Given the description of an element on the screen output the (x, y) to click on. 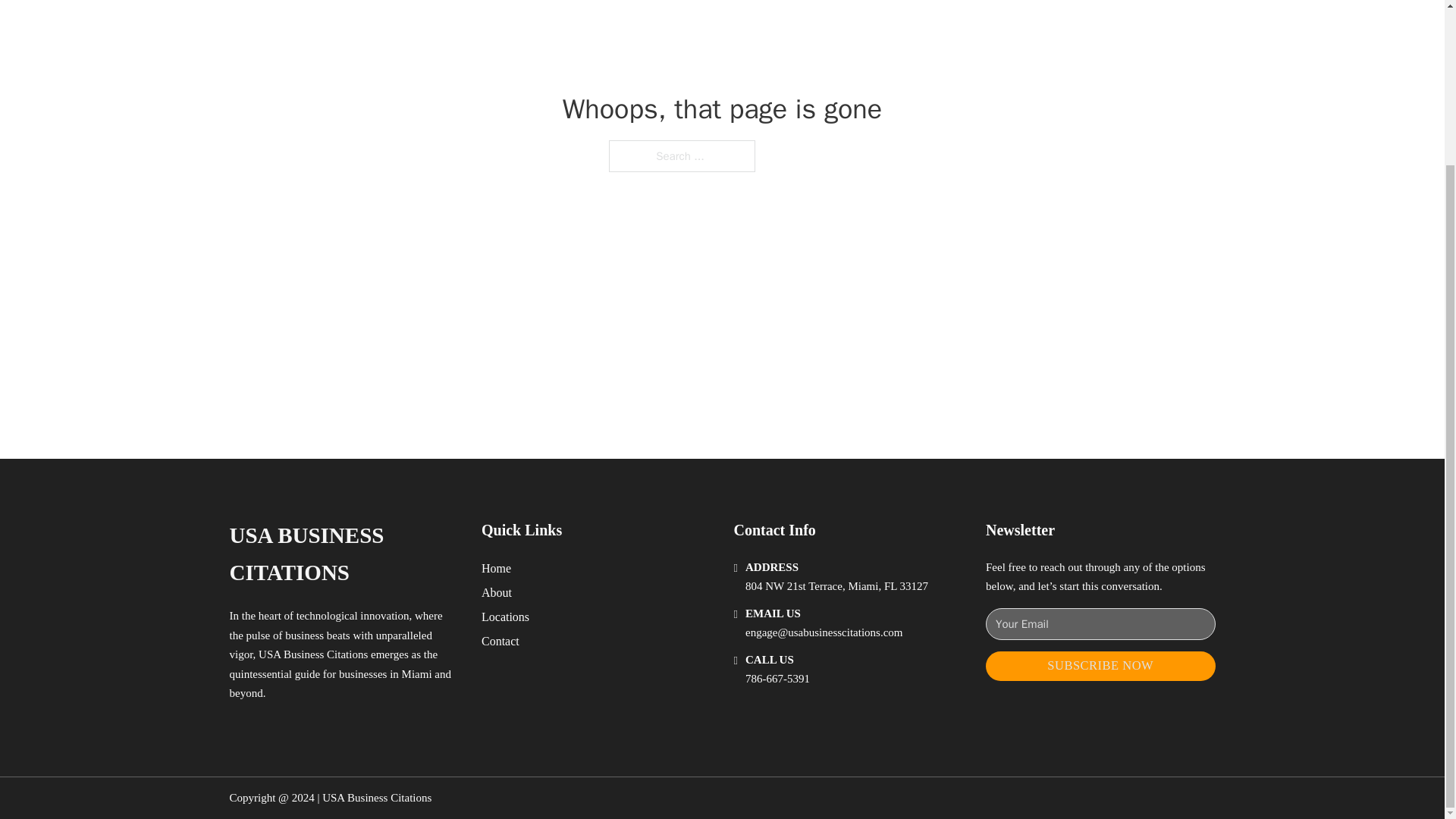
Contact (500, 640)
About (496, 592)
Locations (505, 616)
SUBSCRIBE NOW (1100, 665)
Home (496, 567)
786-667-5391 (777, 678)
USA BUSINESS CITATIONS (343, 554)
